Given the description of an element on the screen output the (x, y) to click on. 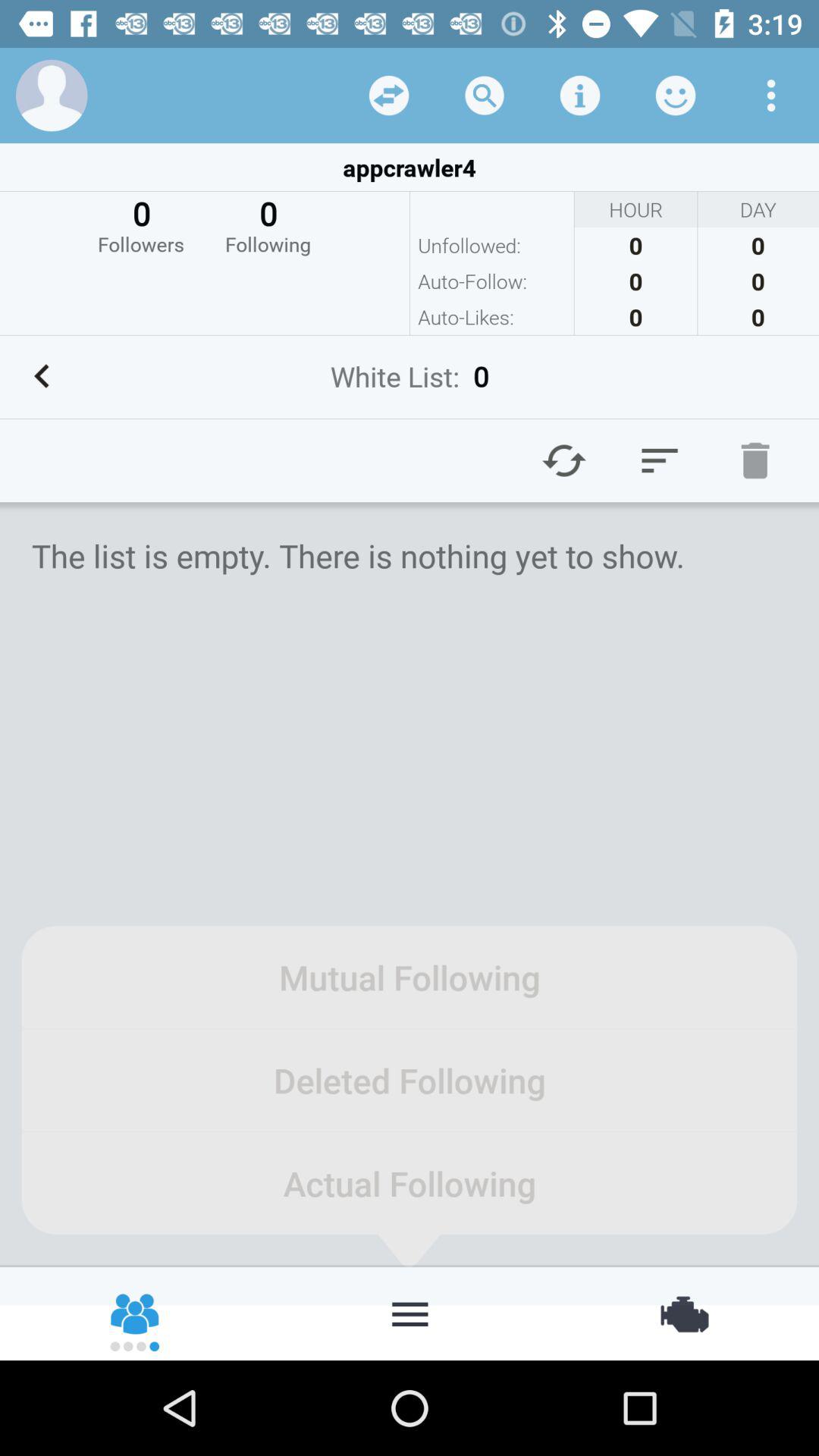
click the menu option (659, 460)
